Given the description of an element on the screen output the (x, y) to click on. 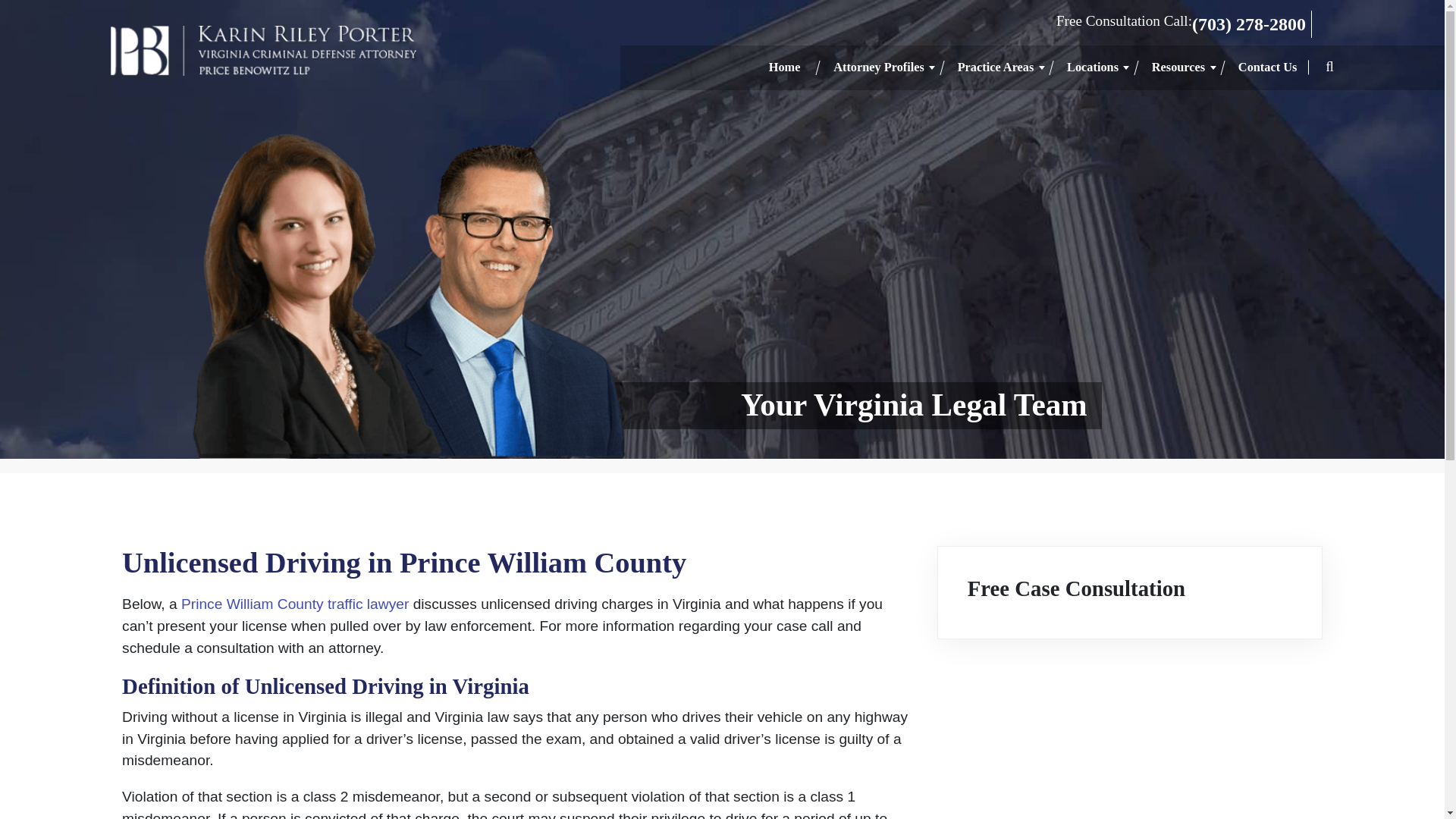
Locations (1092, 68)
Practice Areas (995, 68)
Attorney Profiles (878, 68)
